Given the description of an element on the screen output the (x, y) to click on. 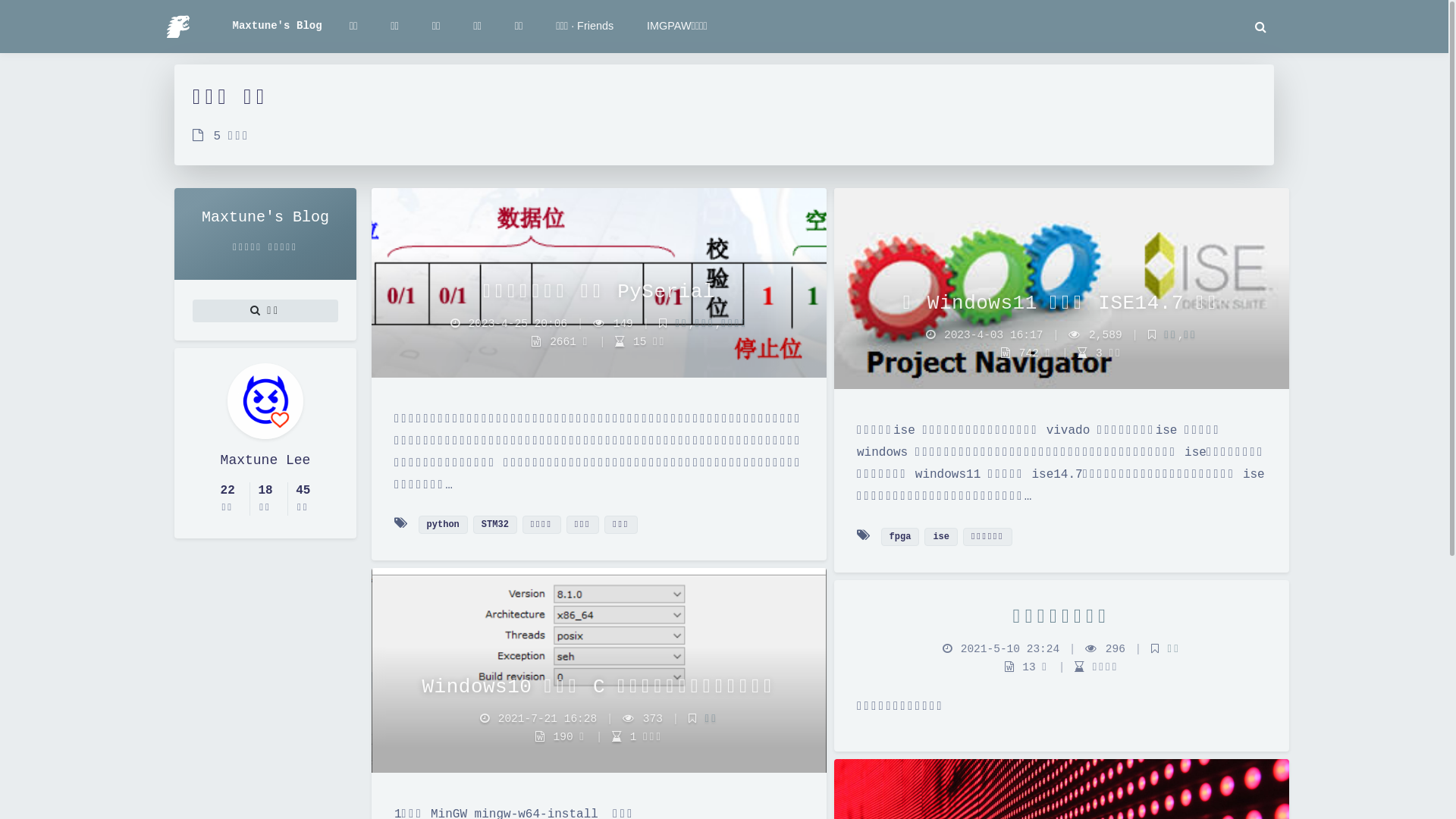
Maxtune's Blog Element type: text (276, 25)
python Element type: text (442, 524)
STM32 Element type: text (495, 524)
fpga Element type: text (900, 536)
ise Element type: text (940, 536)
